Given the description of an element on the screen output the (x, y) to click on. 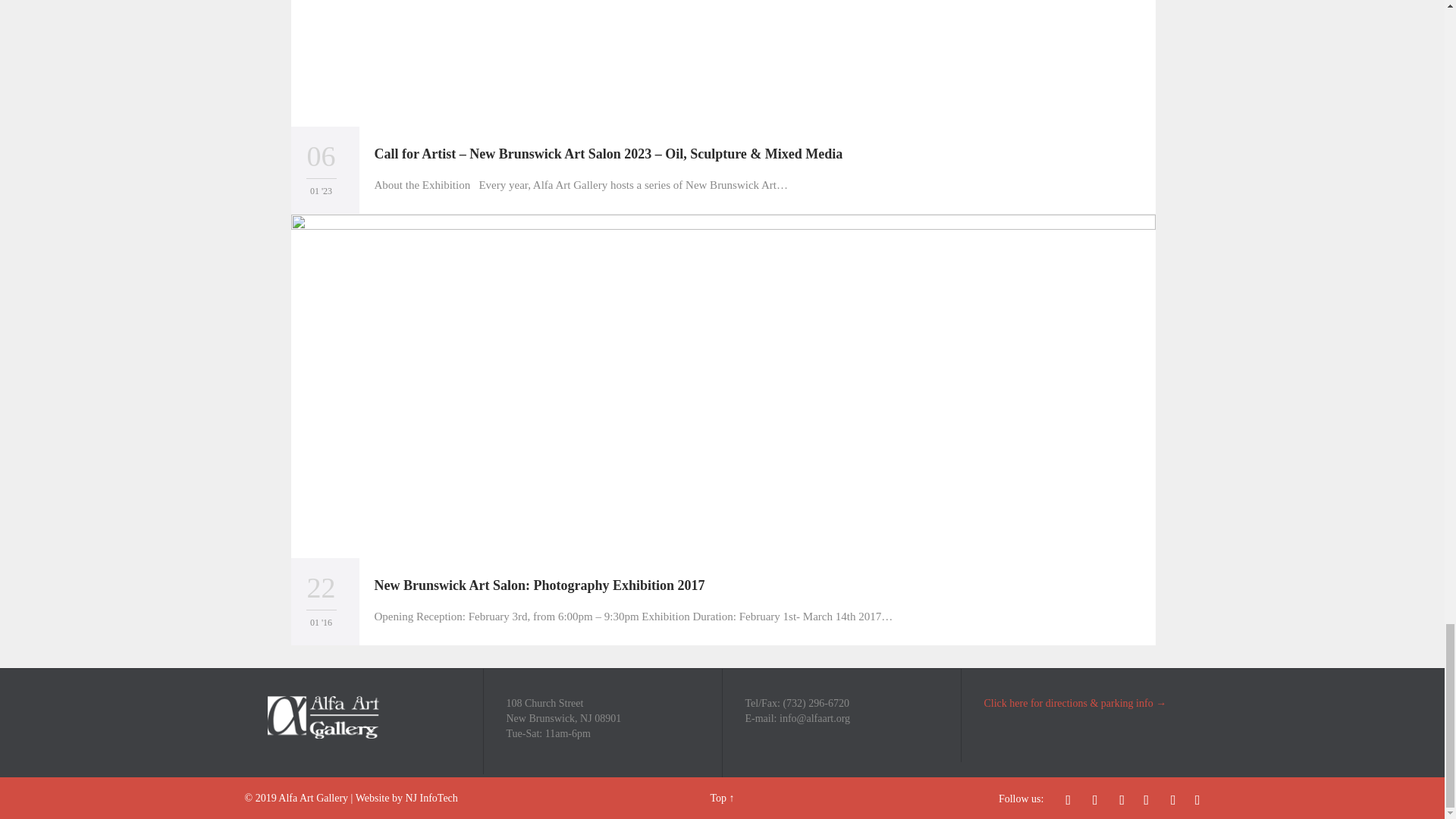
New Brunswick Art Salon: Photography Exhibition 2017 (539, 585)
Top (718, 797)
